Given the description of an element on the screen output the (x, y) to click on. 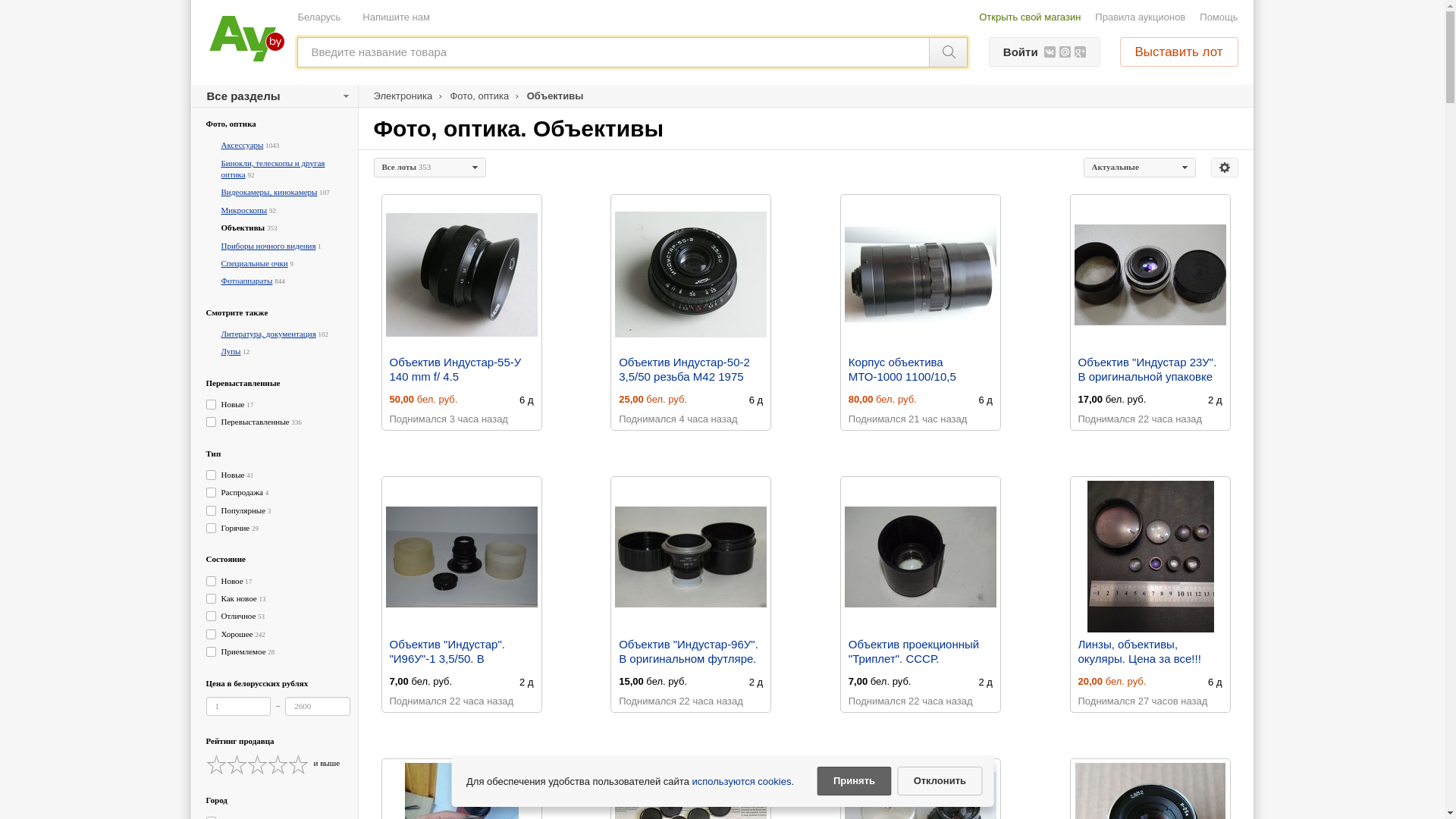
pp Element type: text (721, 291)
login Element type: text (721, 172)
